Given the description of an element on the screen output the (x, y) to click on. 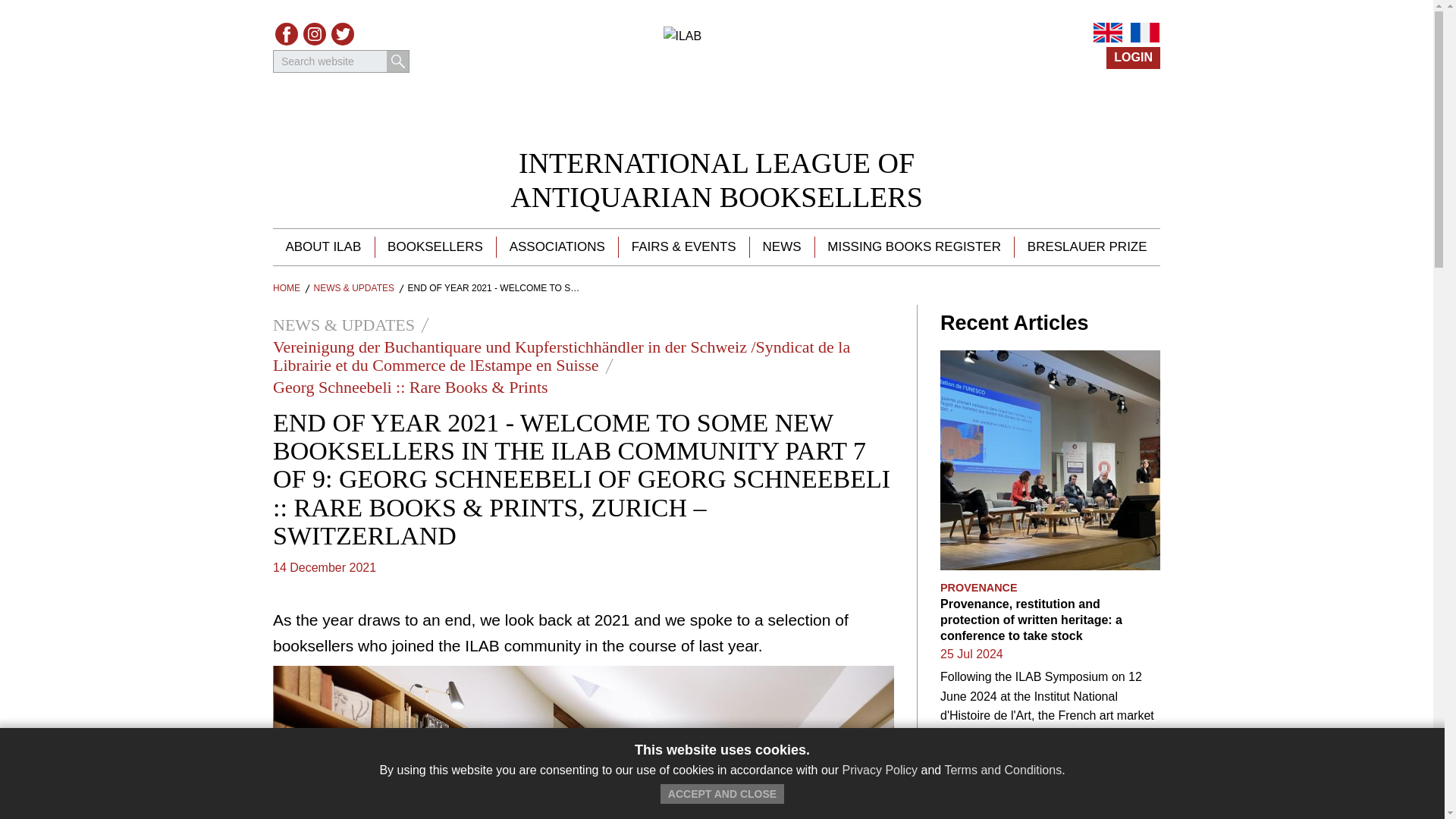
Instagram (314, 33)
ACCEPT AND CLOSE (722, 793)
SEARCH (398, 60)
Facebook (286, 33)
Privacy Policy (880, 769)
LOGIN (1133, 57)
NEWS (781, 246)
FR (1144, 32)
MISSING BOOKS REGISTER (913, 246)
See our Twitter posts (342, 33)
Return to ILAB main site (716, 79)
BOOKSELLERS (716, 180)
Terms and Conditions (435, 246)
EN (1002, 769)
